Given the description of an element on the screen output the (x, y) to click on. 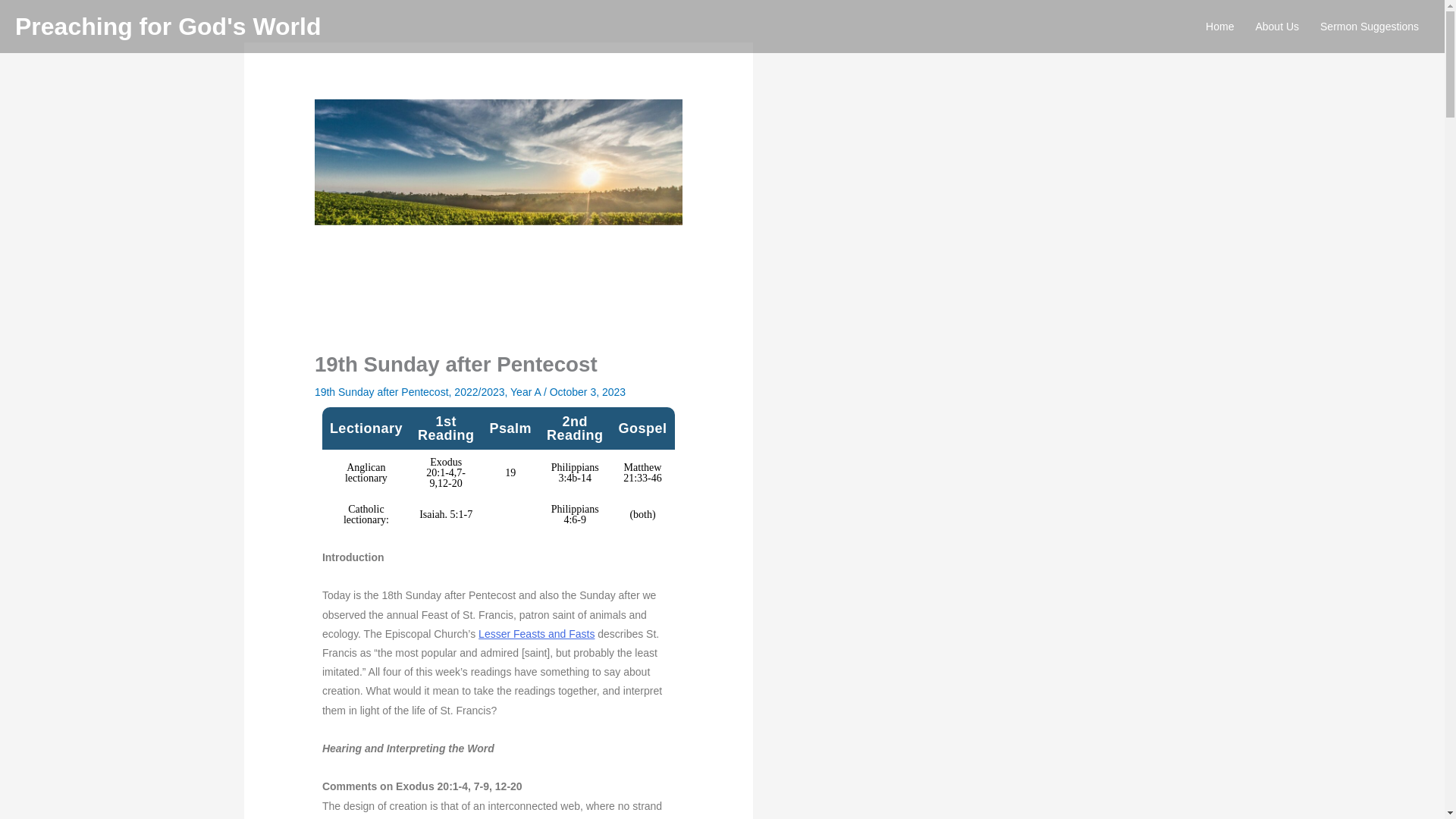
Sermon Suggestions (1368, 26)
Year A (525, 391)
19th Sunday after Pentecost (381, 391)
Preaching for God's World (167, 26)
About Us (1276, 26)
Home (1219, 26)
Lesser Feasts and Fasts (536, 633)
